Given the description of an element on the screen output the (x, y) to click on. 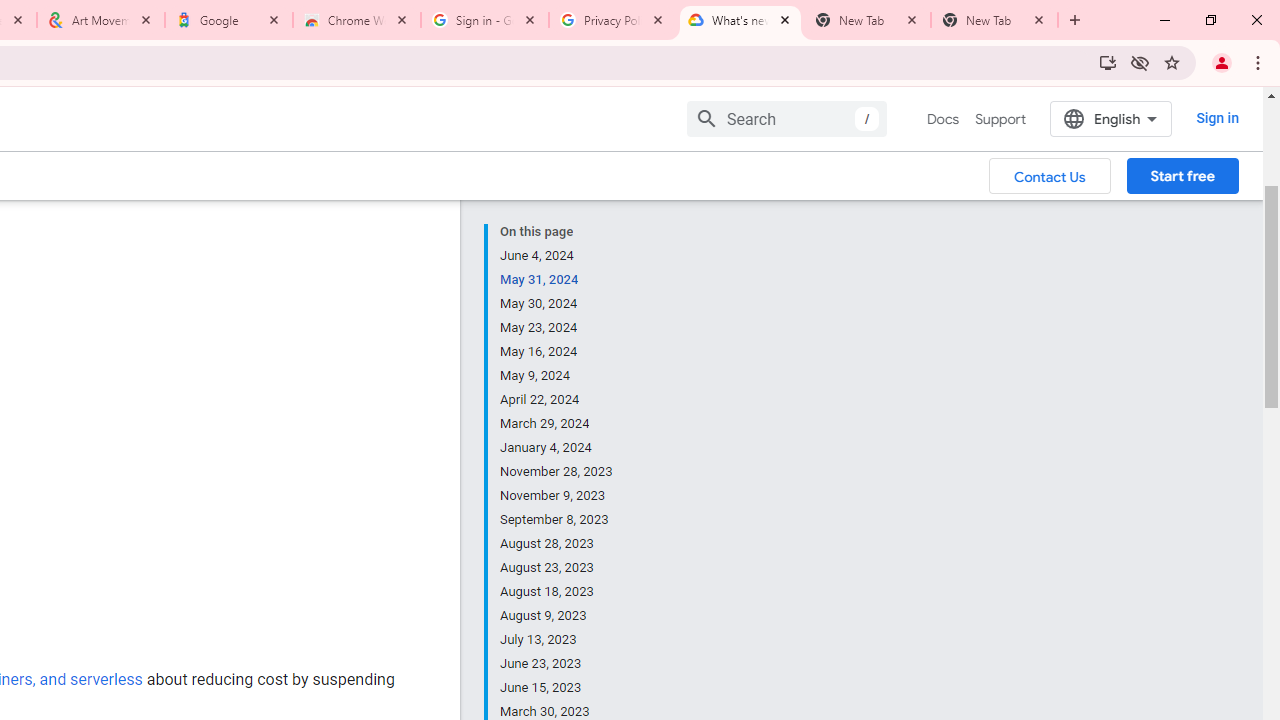
Chrome Web Store - Color themes by Chrome (357, 20)
August 18, 2023 (557, 592)
August 23, 2023 (557, 567)
November 9, 2023 (557, 495)
May 23, 2024 (557, 327)
English (1110, 118)
August 9, 2023 (557, 615)
New Tab (994, 20)
Google (229, 20)
May 31, 2024 (557, 279)
